Given the description of an element on the screen output the (x, y) to click on. 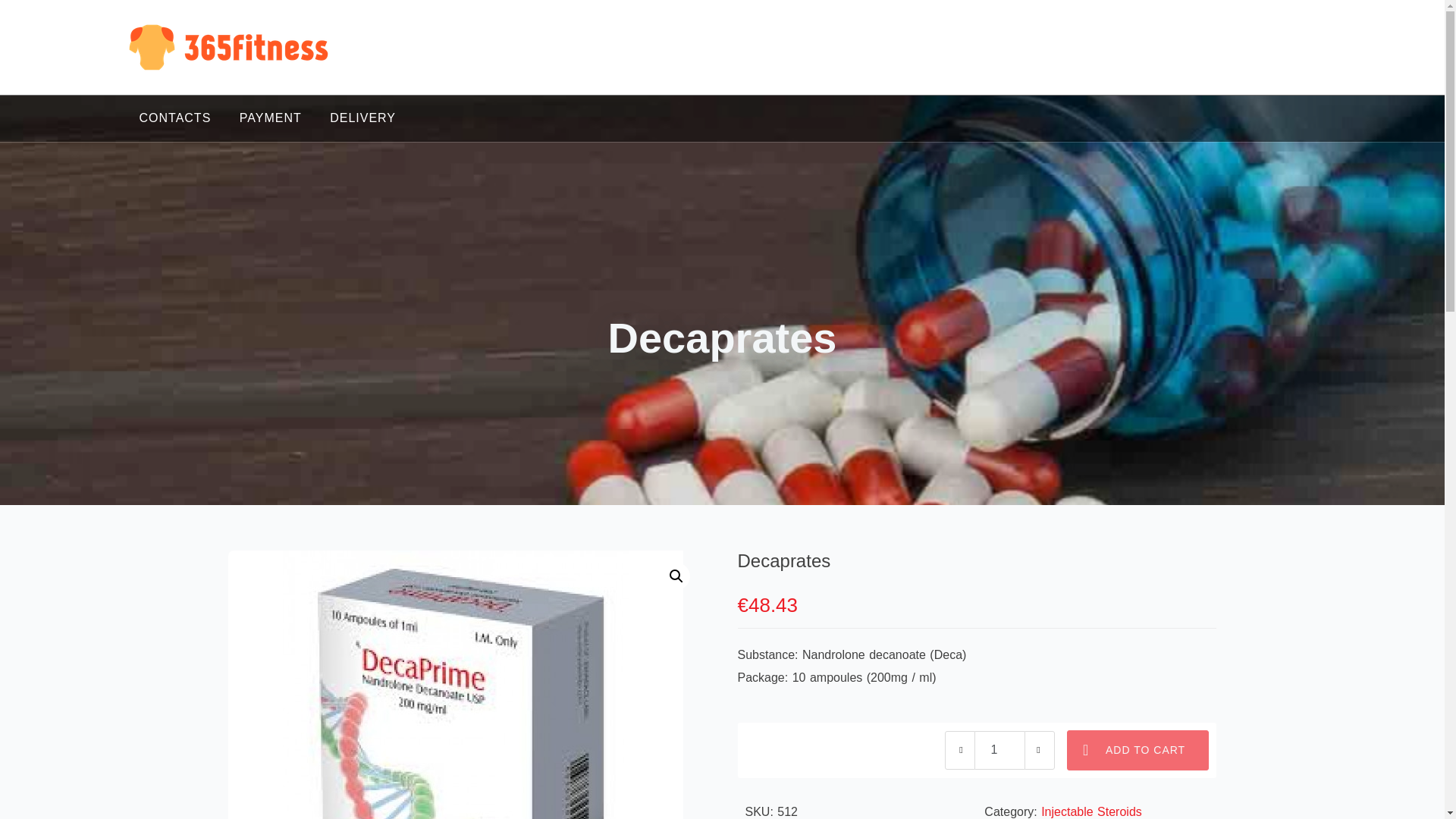
CONTACTS (176, 118)
Qty (1000, 750)
1 (1000, 750)
DELIVERY (362, 118)
Injectable Steroids (1091, 811)
PAYMENT (270, 118)
ADD TO CART (1137, 750)
512-600x533-1.jpg (455, 684)
